Given the description of an element on the screen output the (x, y) to click on. 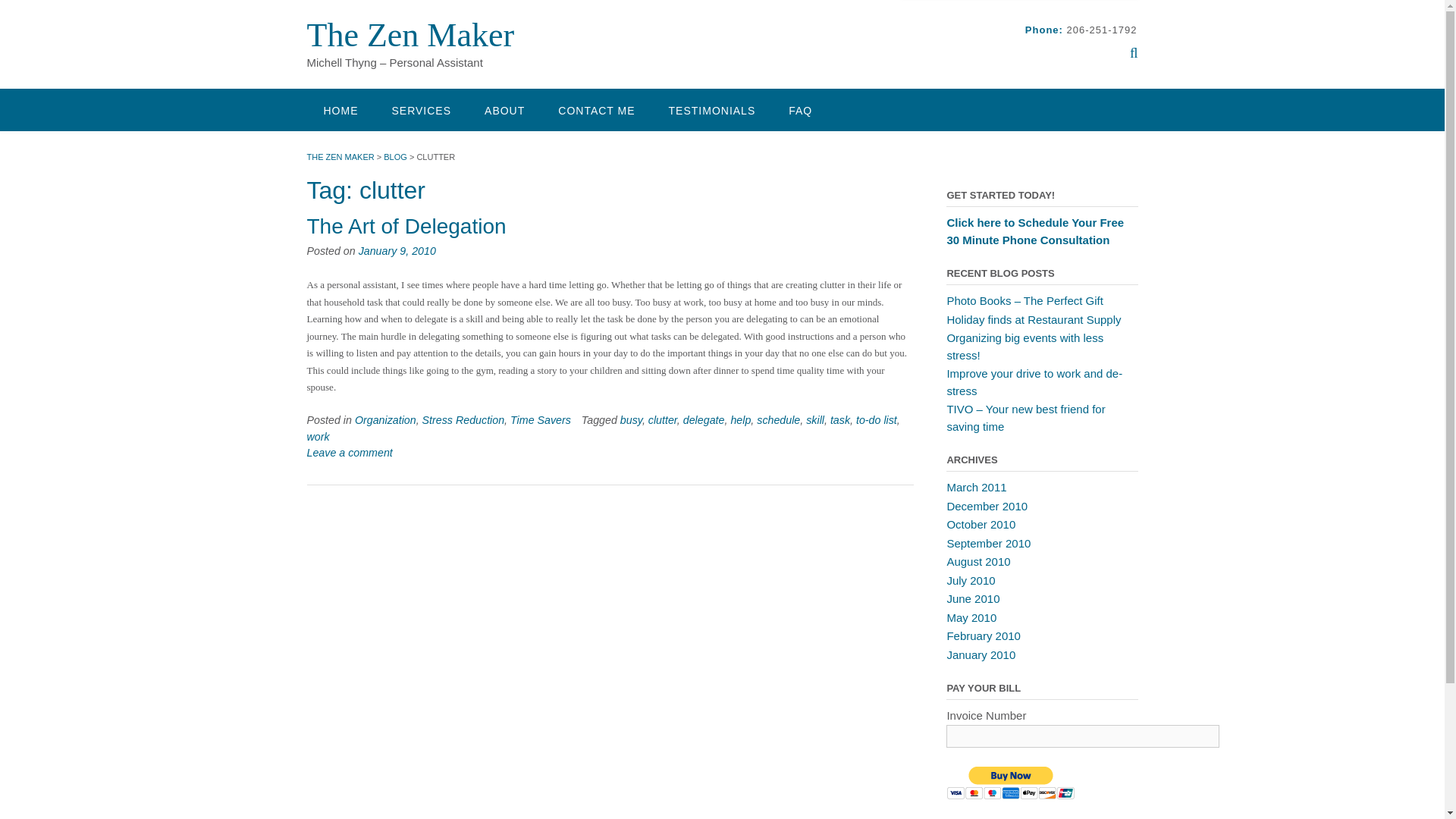
BLOG (395, 156)
The Zen Maker (409, 35)
December 2010 (986, 504)
schedule (778, 419)
January 9, 2010 (396, 250)
May 2010 (970, 617)
The Zen Maker (409, 35)
The Art of Delegation (405, 226)
FAQ (799, 109)
Holiday finds at Restaurant Supply (1033, 318)
Leave a comment (348, 452)
June 2010 (972, 598)
clutter (662, 419)
busy (631, 419)
delegate (703, 419)
